Given the description of an element on the screen output the (x, y) to click on. 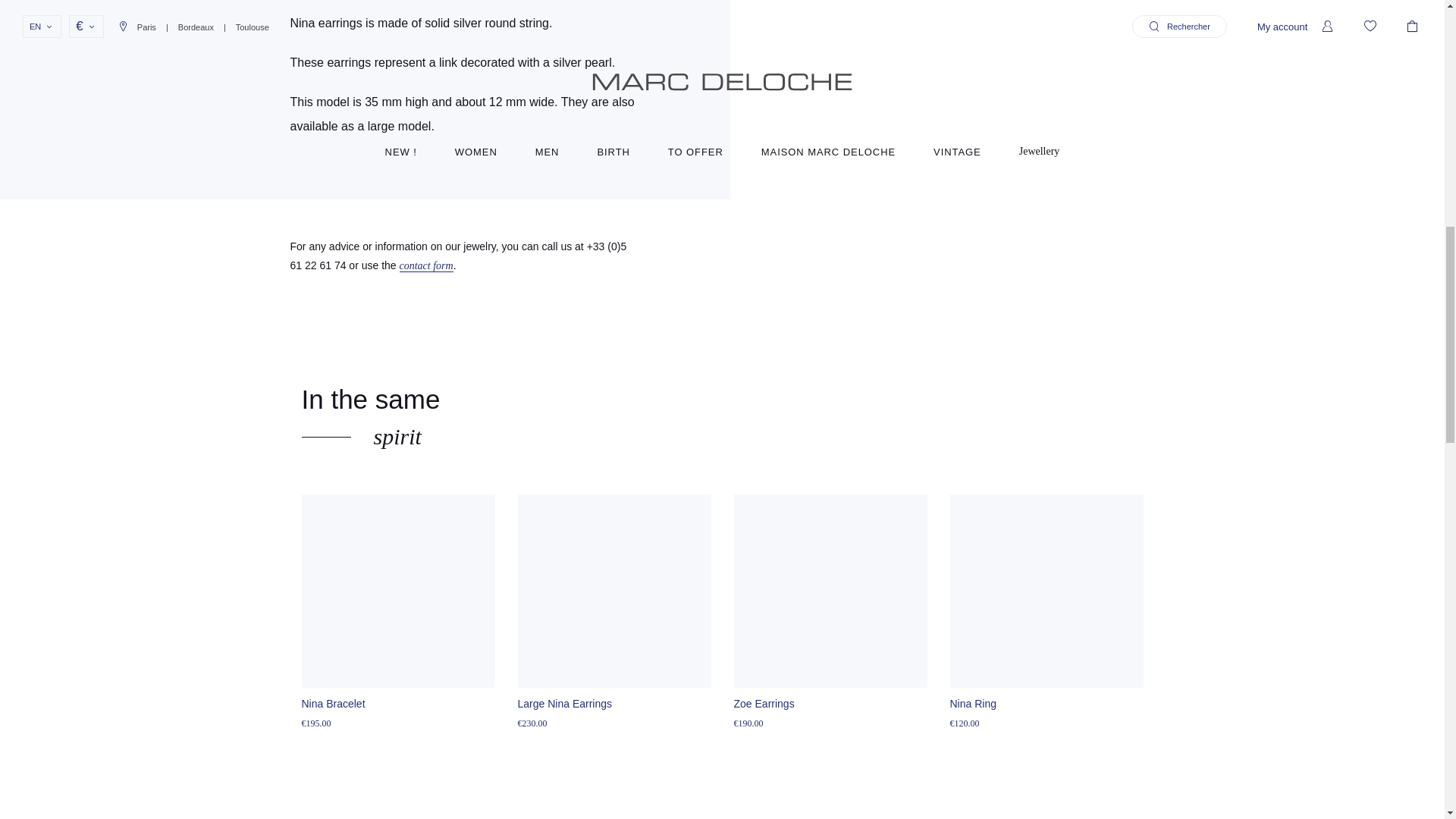
Large Nina Earrings (563, 703)
Large Nina Earrings (613, 590)
Nina Bracelet (333, 703)
Nina Bracelet (398, 590)
